Given the description of an element on the screen output the (x, y) to click on. 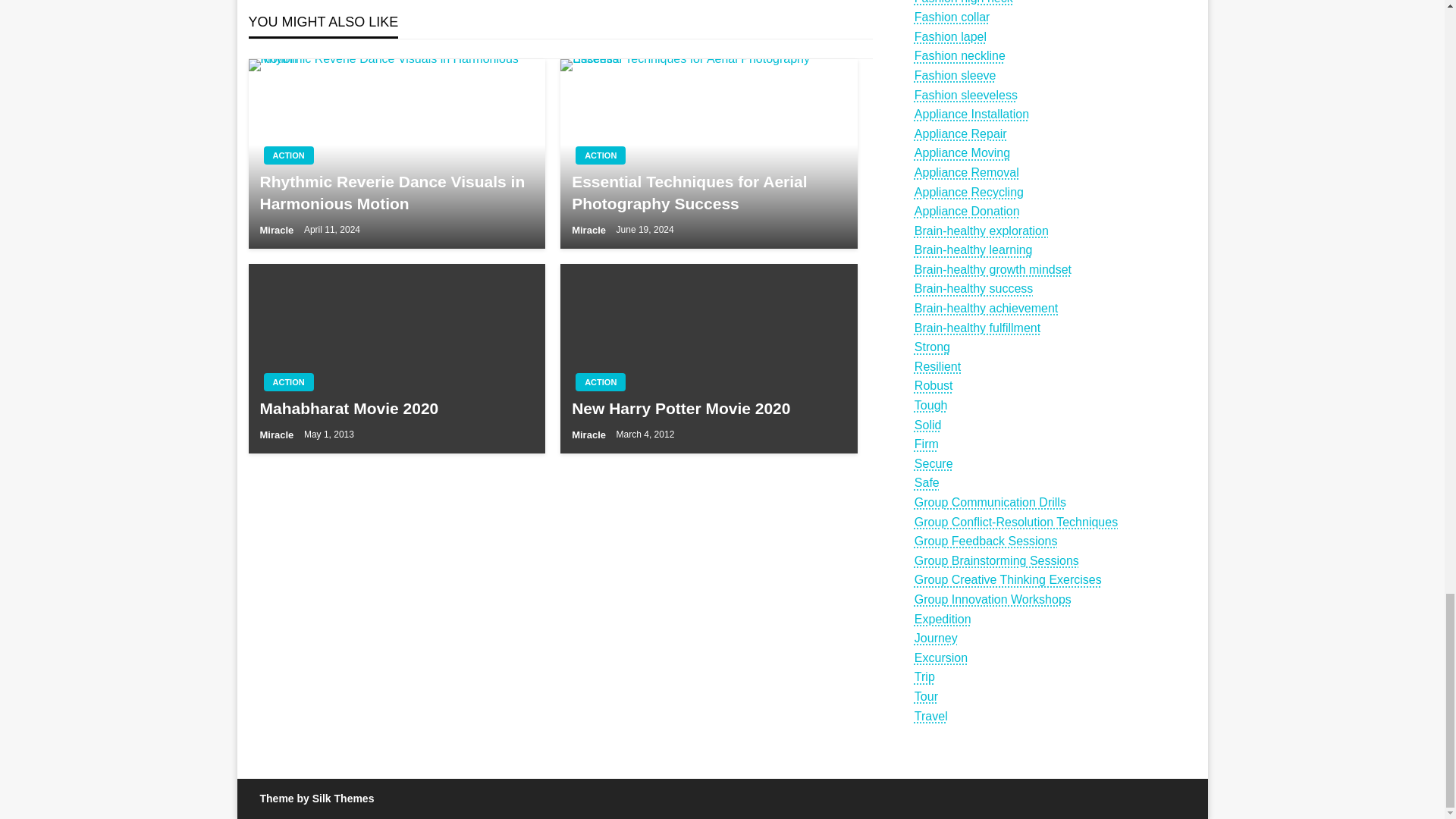
ACTION (600, 155)
Miracle (590, 229)
Essential Techniques for Aerial Photography Success (708, 192)
ACTION (288, 155)
Rhythmic Reverie Dance Visuals in Harmonious Motion (397, 153)
Miracle (277, 229)
Essential Techniques for Aerial Photography Success (708, 153)
Rhythmic Reverie Dance Visuals in Harmonious Motion (396, 192)
